Given the description of an element on the screen output the (x, y) to click on. 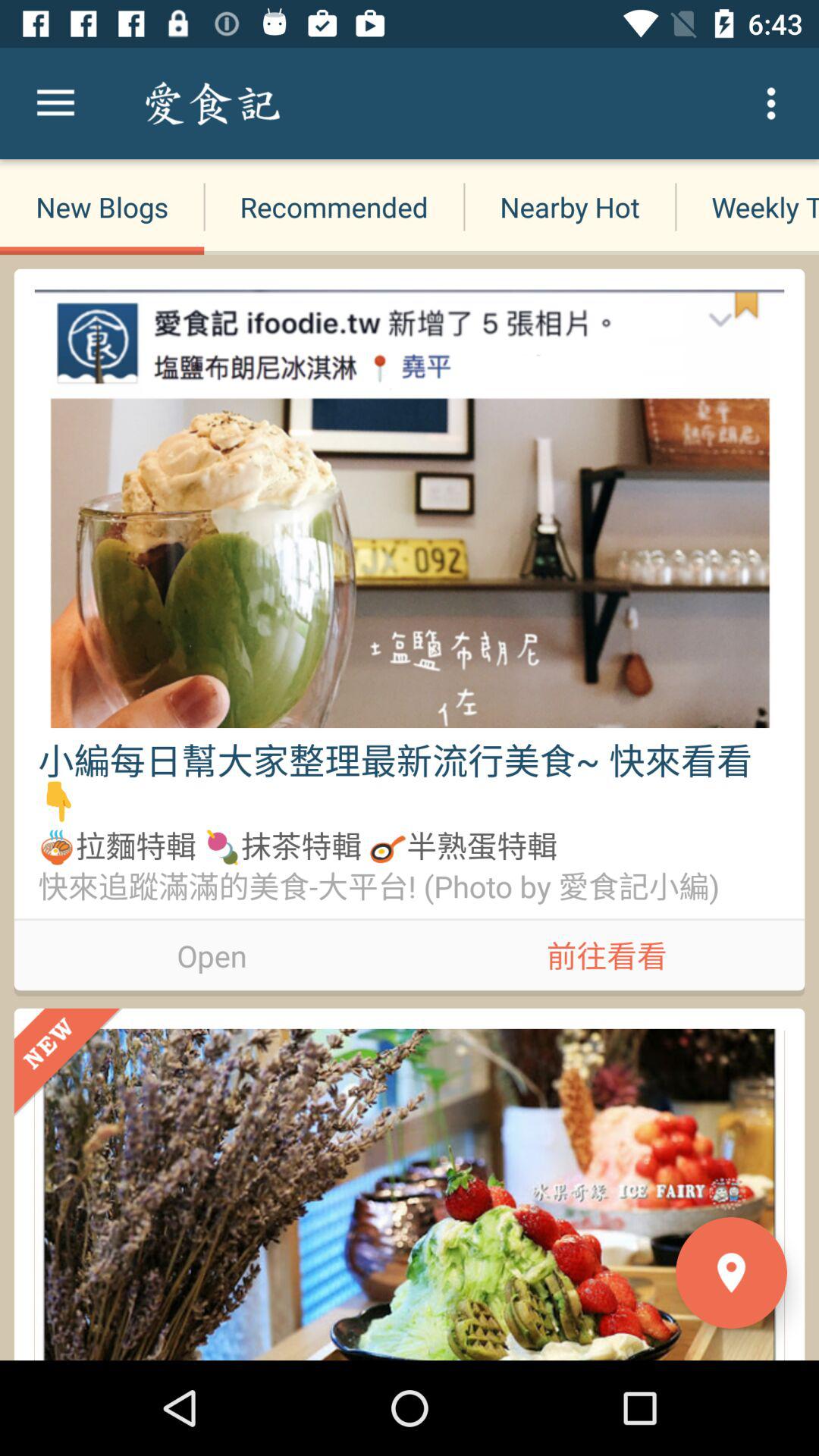
choose nearby hot icon (569, 206)
